Given the description of an element on the screen output the (x, y) to click on. 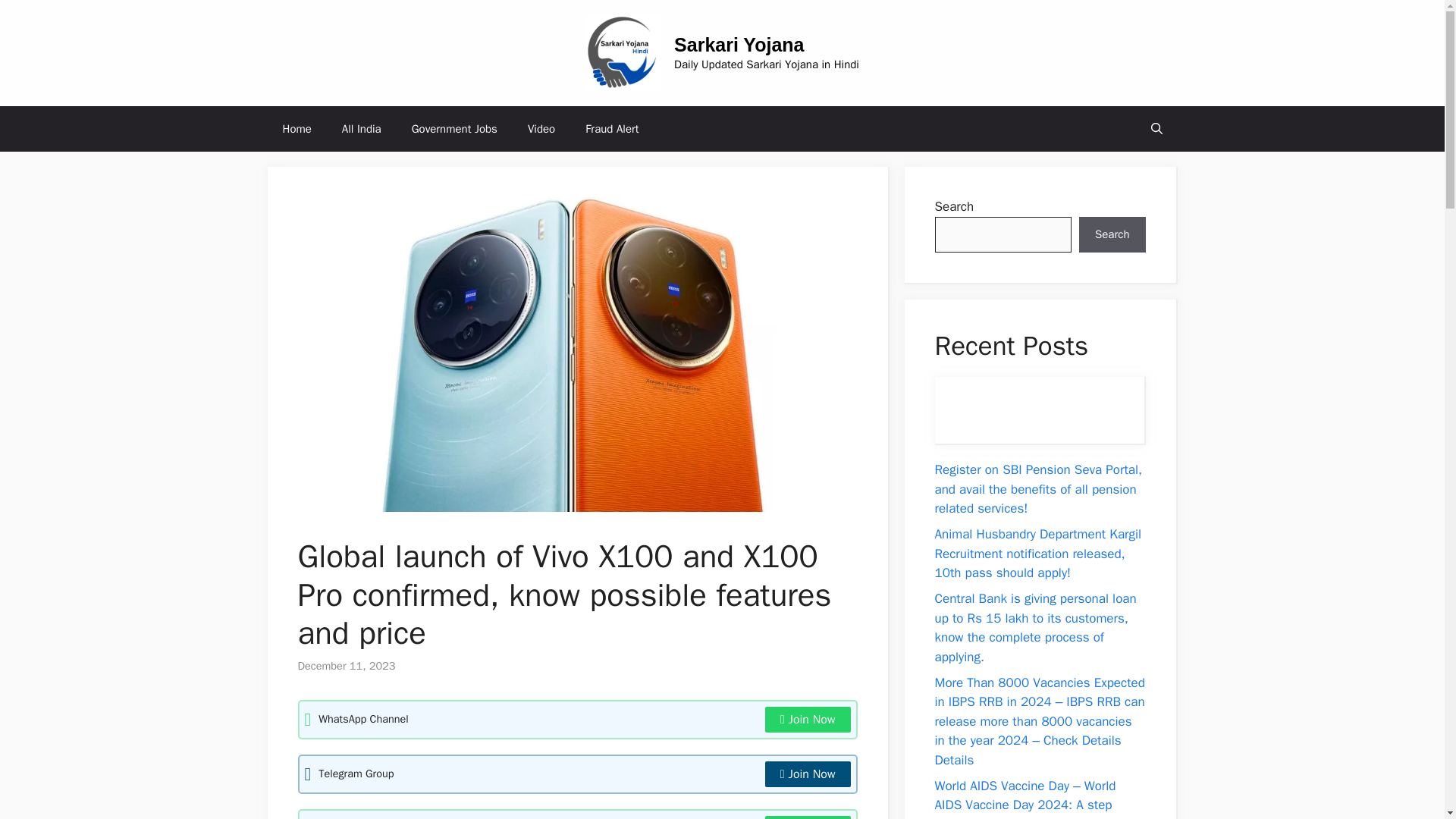
All India (361, 128)
Search (1111, 235)
Fraud Alert (611, 128)
Video (541, 128)
Sarkari Yojana (738, 44)
Join Now (807, 774)
Home (296, 128)
Government Jobs (454, 128)
